Given the description of an element on the screen output the (x, y) to click on. 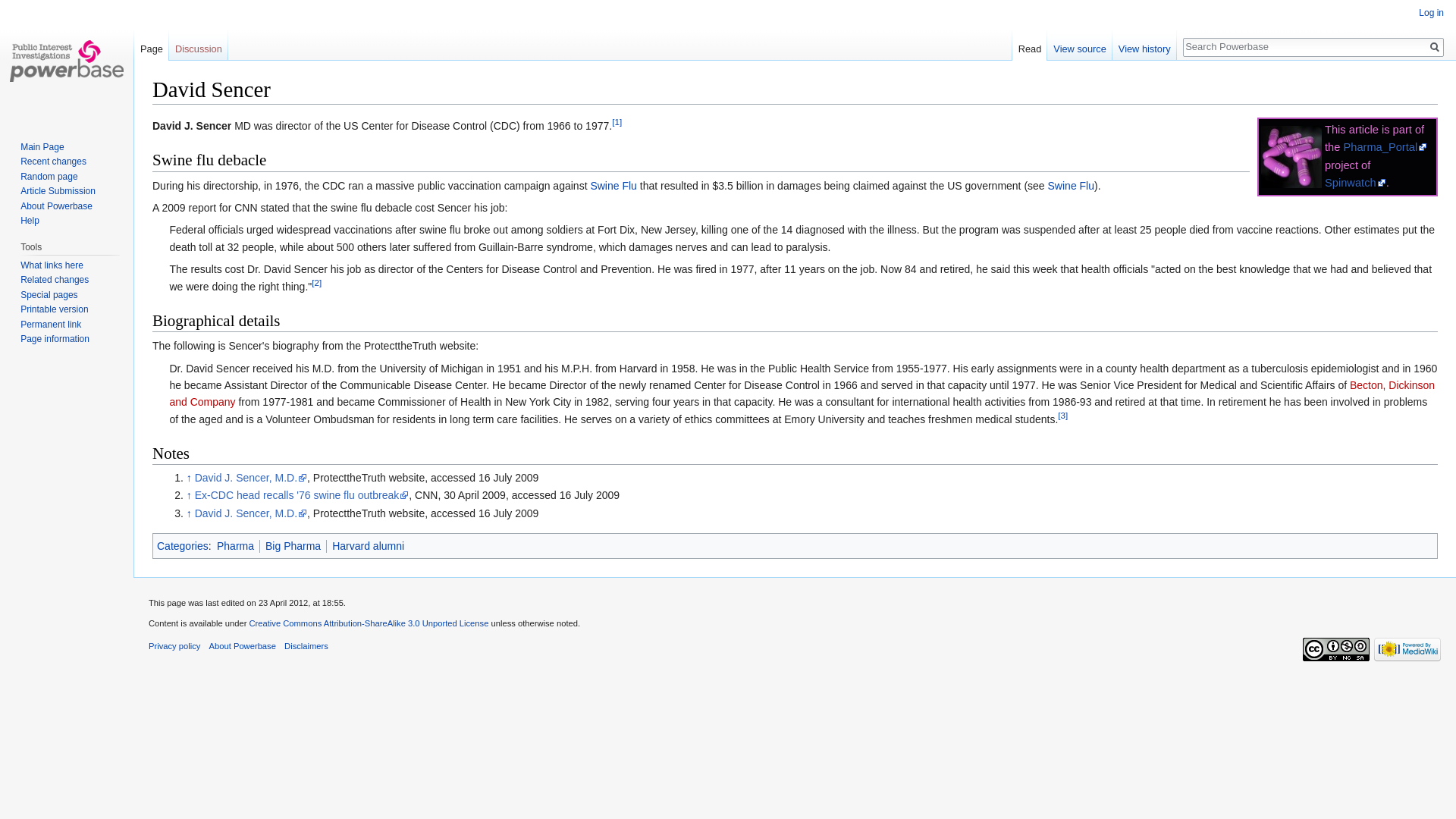
Log in (1431, 12)
Category:Big Pharma (292, 545)
Article Submission (58, 190)
Becton, Dickinson and Company (801, 393)
Go to a page with this exact name if it exists (1434, 46)
David J. Sencer, M.D. (251, 477)
Swine Flu (1071, 185)
Pharma (234, 545)
Swine Flu (1071, 185)
Go (1434, 46)
